Given the description of an element on the screen output the (x, y) to click on. 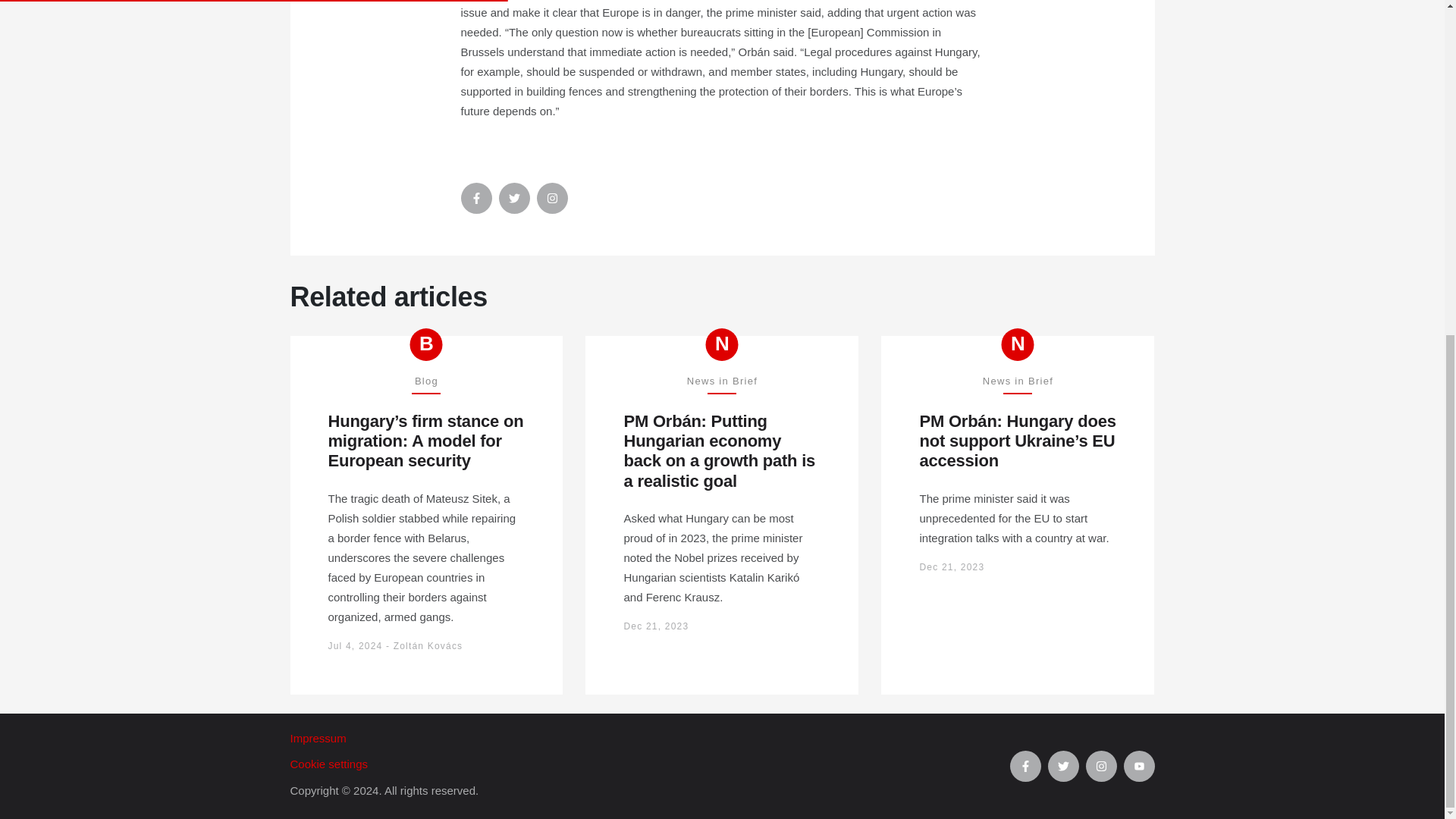
News in Brief (722, 344)
Facebook icon (476, 197)
Instagram icon (552, 197)
Twitter- icon (514, 197)
News in Brief (1017, 344)
N (722, 344)
Impressum (649, 738)
Cookie settings (649, 764)
N (1017, 344)
Blog (426, 344)
